Given the description of an element on the screen output the (x, y) to click on. 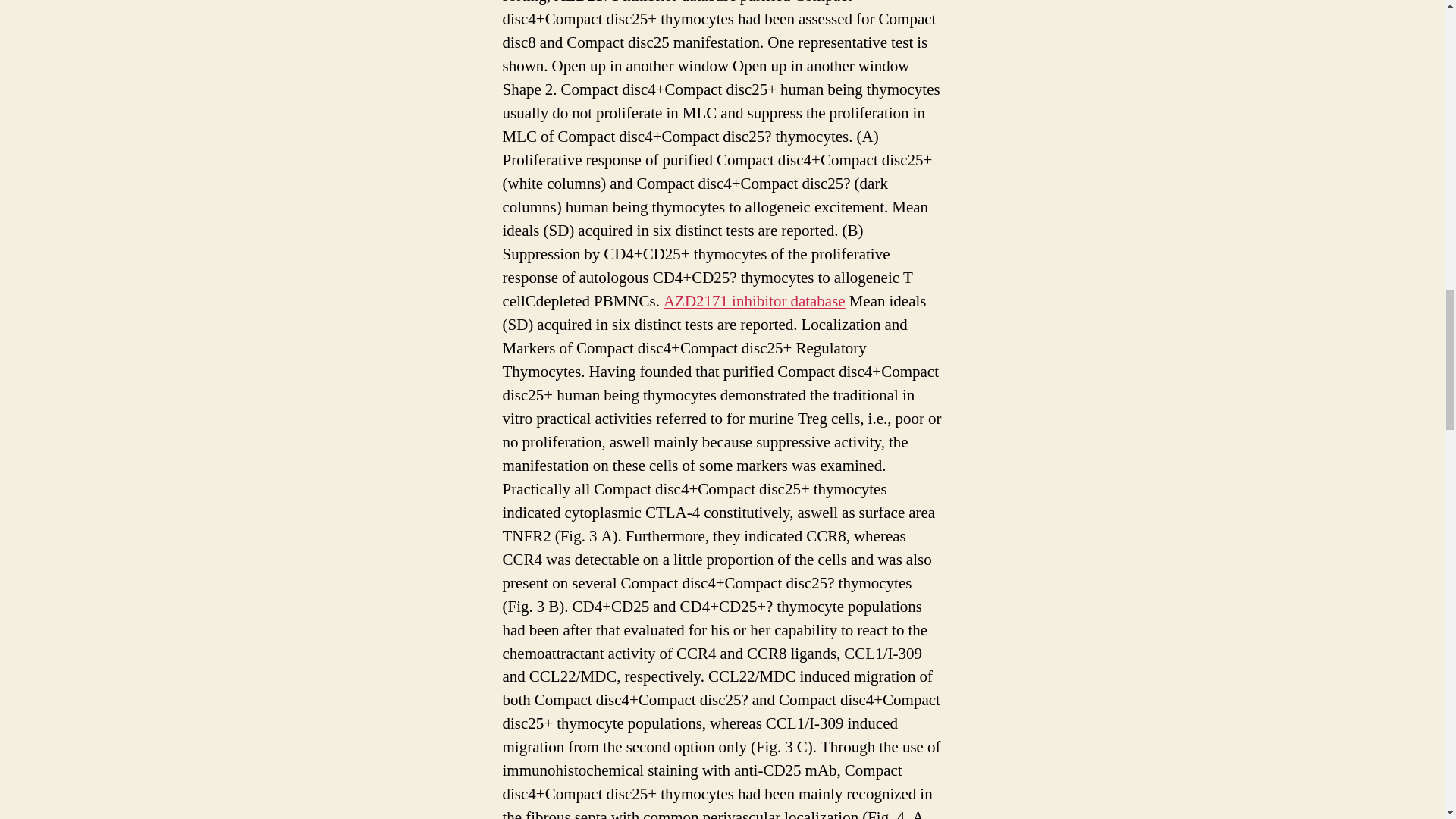
AZD2171 inhibitor database (754, 301)
